Given the description of an element on the screen output the (x, y) to click on. 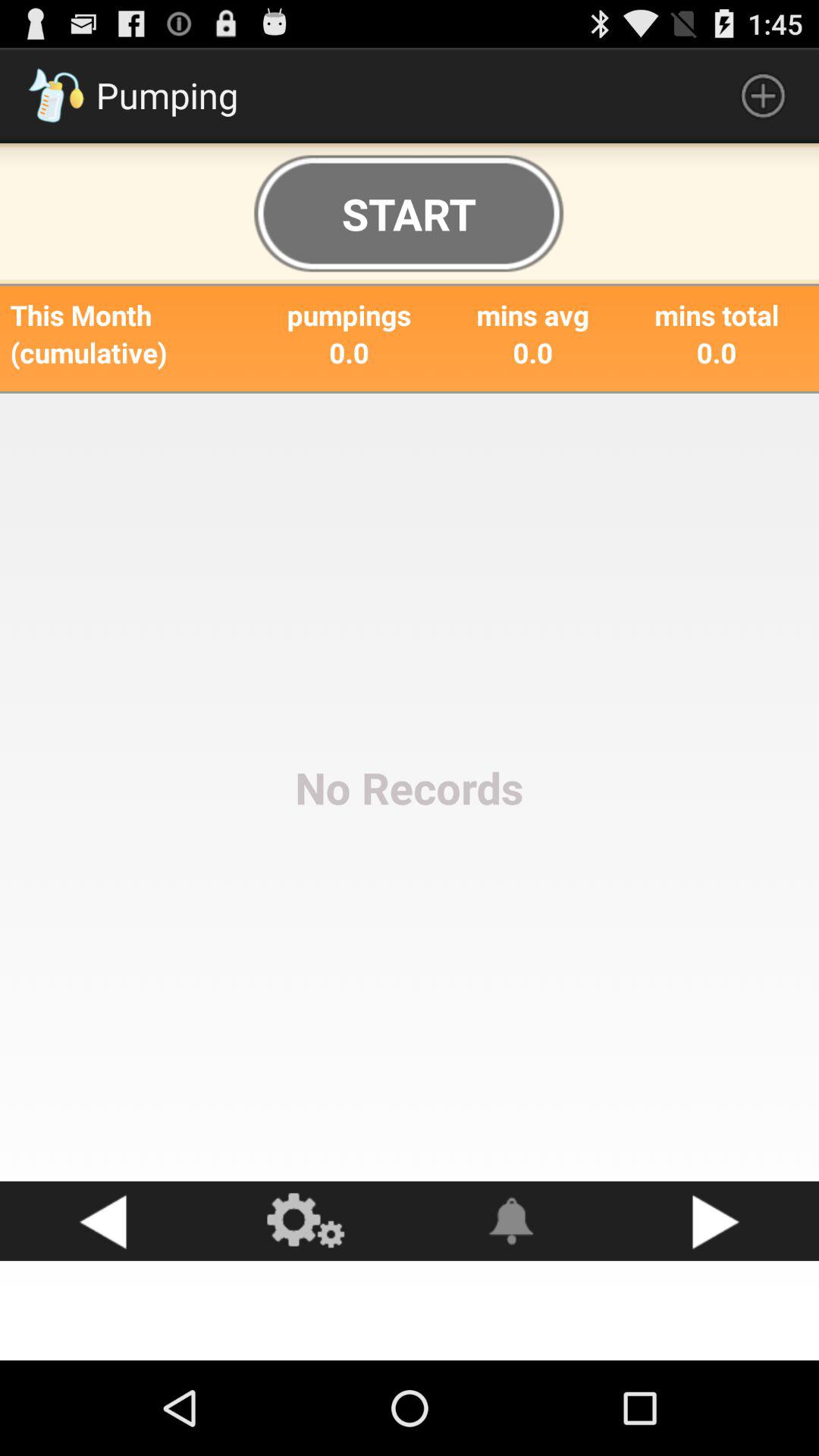
go to next page (716, 1220)
